Given the description of an element on the screen output the (x, y) to click on. 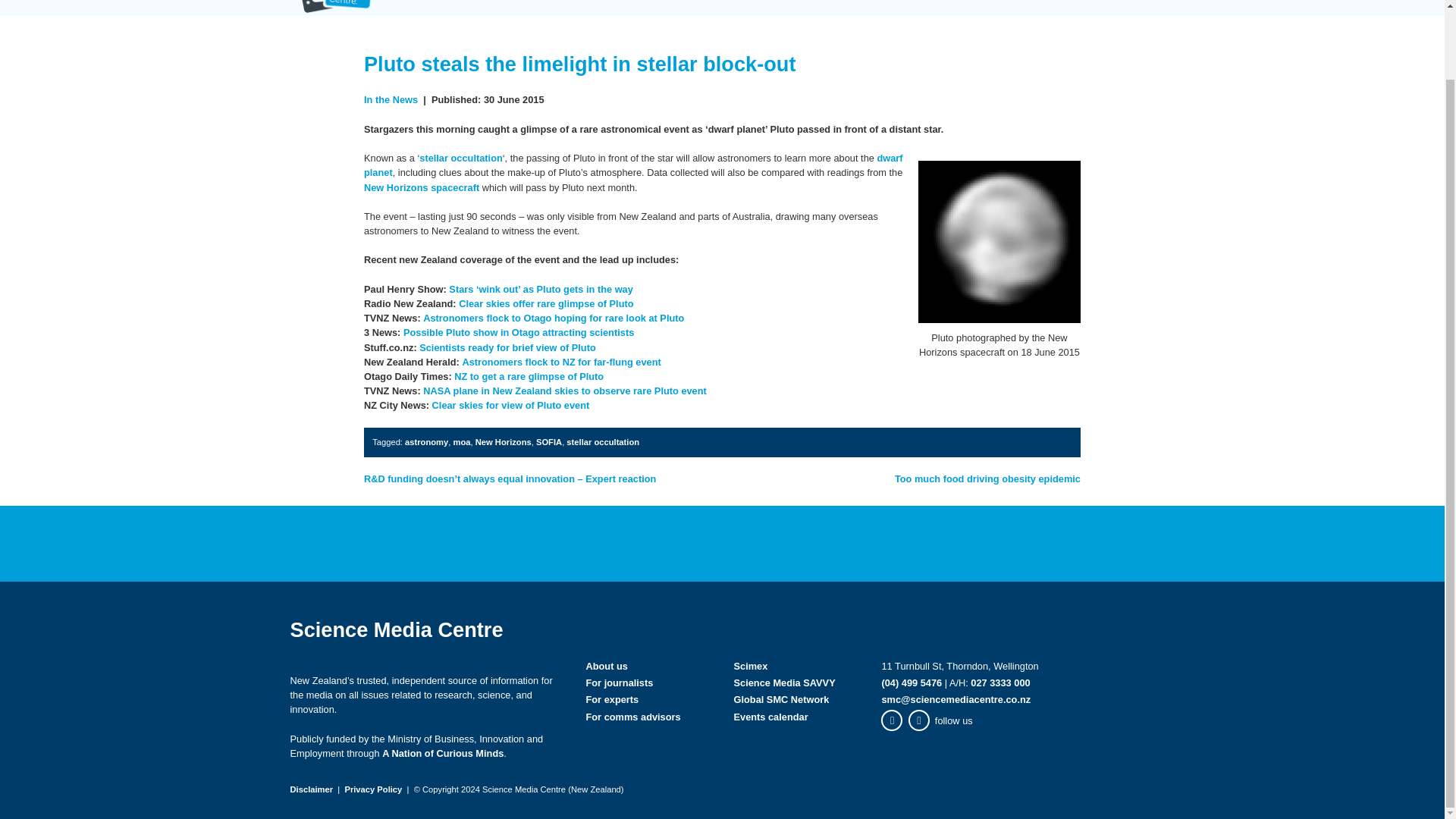
For journalists (836, 7)
For experts (947, 7)
For comms advisors (1076, 7)
Home (746, 7)
